Given the description of an element on the screen output the (x, y) to click on. 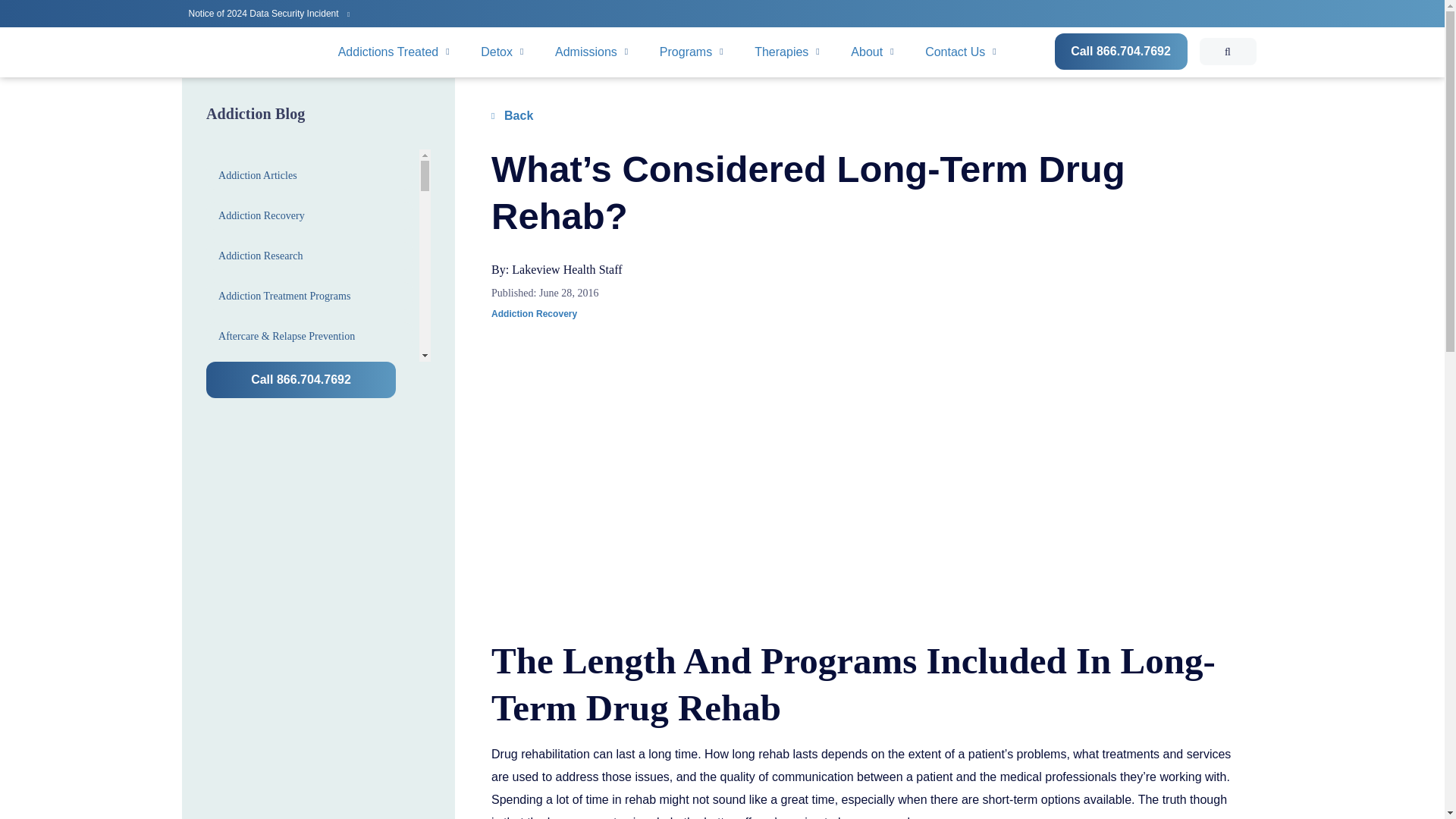
Therapies (787, 51)
Notice of 2024 Data Security Incident (268, 12)
Admissions (591, 51)
Addictions Treated (394, 51)
Detox (502, 51)
Programs (691, 51)
